Given the description of an element on the screen output the (x, y) to click on. 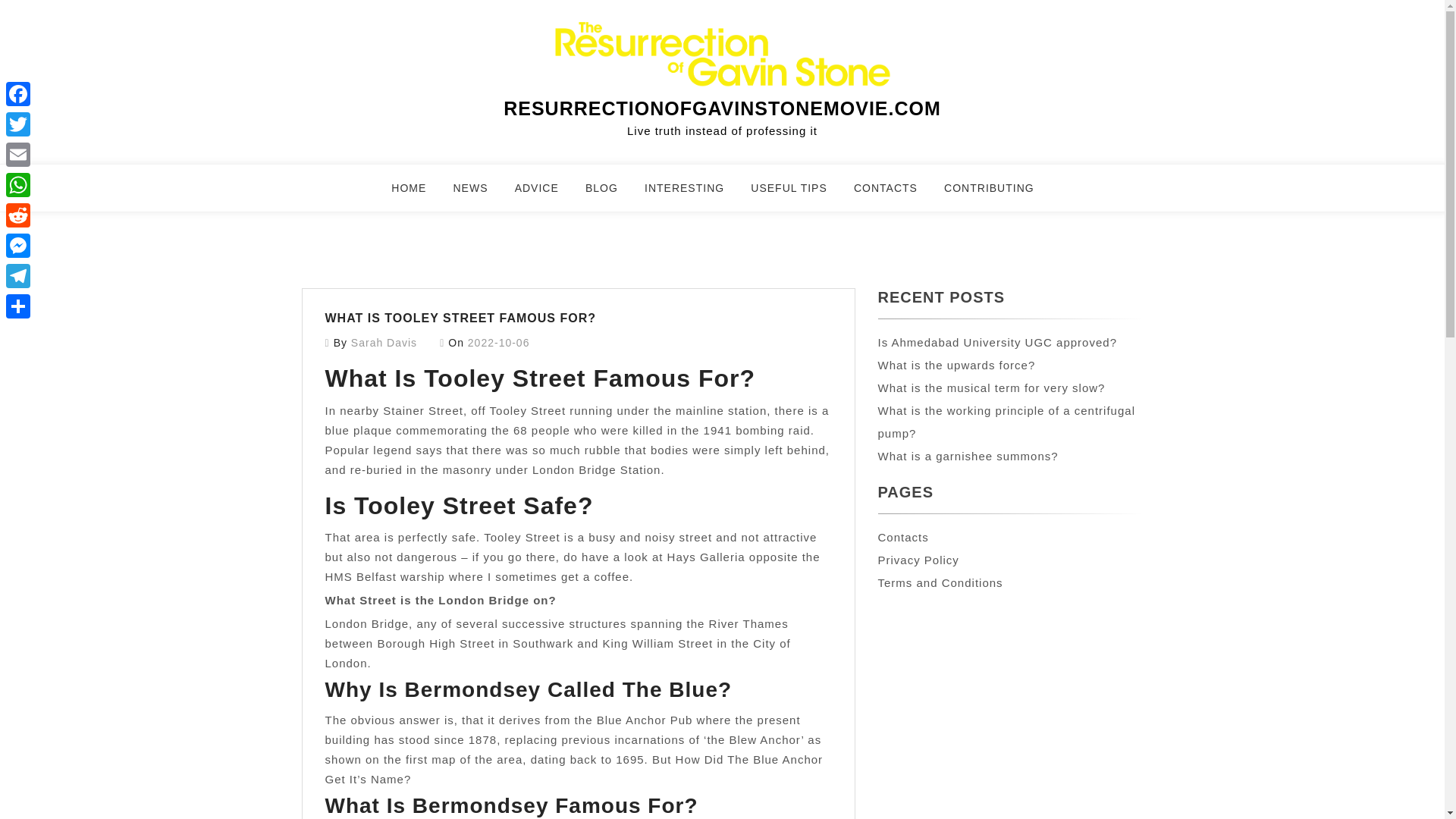
Reddit (17, 214)
HOME (418, 194)
2022-10-06 (498, 342)
CONTACTS (894, 194)
Facebook (17, 93)
Contacts (902, 536)
Is Ahmedabad University UGC approved? (996, 341)
What is the musical term for very slow? (991, 387)
Telegram (17, 276)
NEWS (479, 194)
CONTRIBUTING (997, 194)
Twitter (17, 123)
Sarah Davis (383, 342)
ADVICE (546, 194)
What is the upwards force? (956, 364)
